Given the description of an element on the screen output the (x, y) to click on. 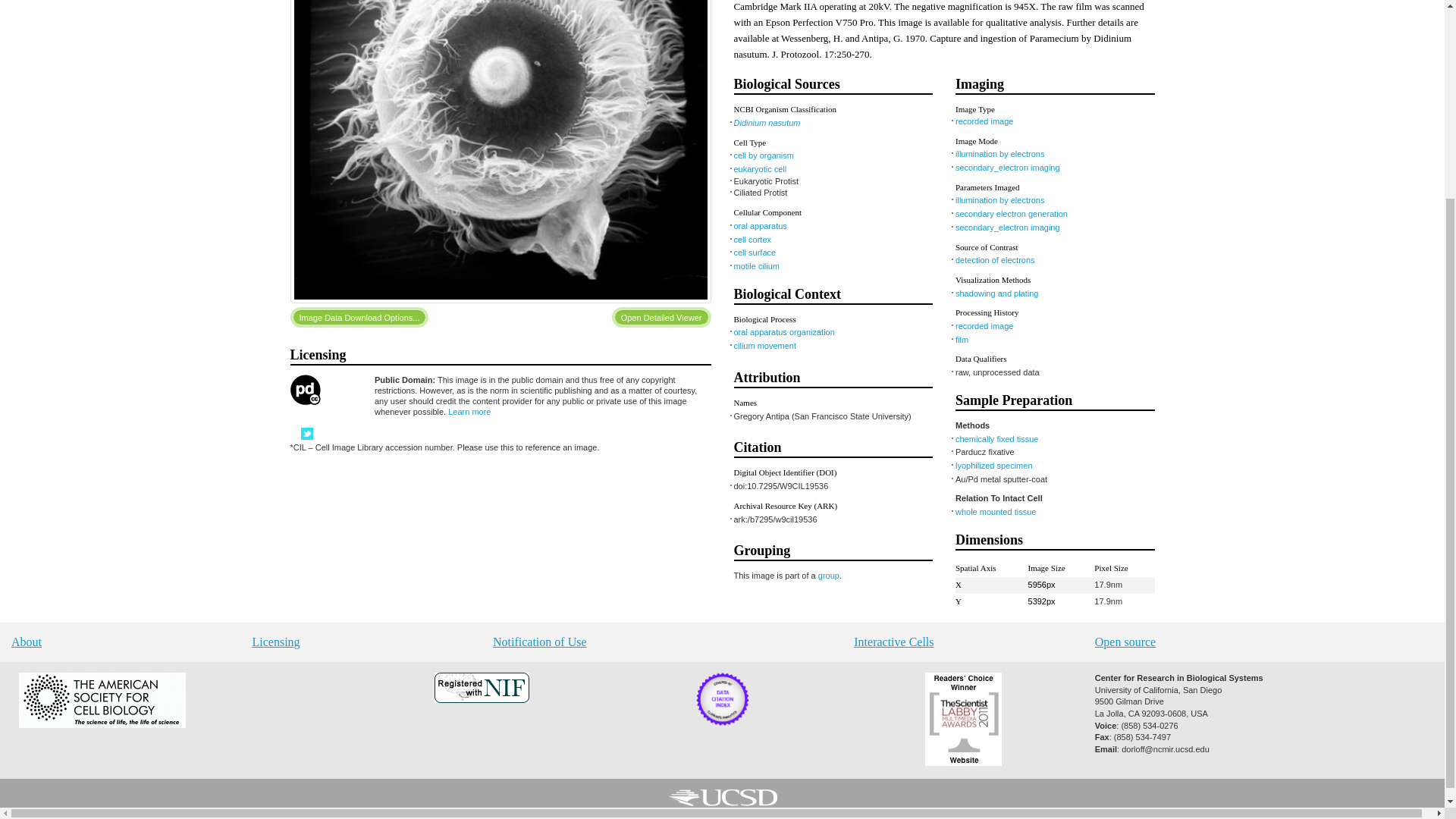
oral apparatus organization (783, 331)
Open Detailed Viewer (661, 317)
recorded image (984, 121)
cilium movement (764, 345)
motile cilium (756, 266)
oral apparatus (760, 225)
cell by organism (763, 154)
eukaryotic cell (760, 168)
group (829, 574)
Didinium nasutum (766, 122)
